Given the description of an element on the screen output the (x, y) to click on. 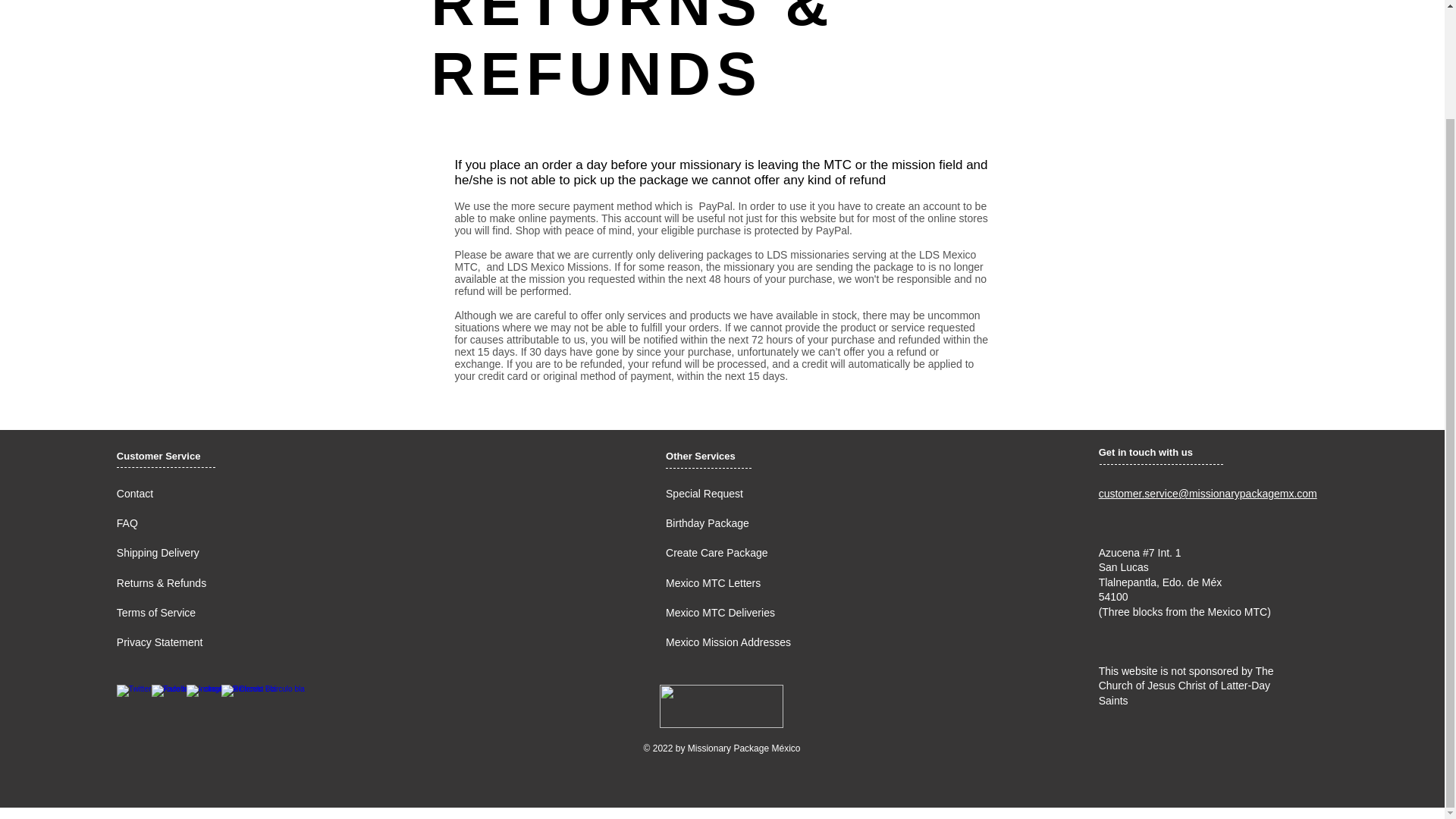
Terms of Service (155, 612)
Special Request (703, 493)
Shipping Delivery (157, 552)
Create Care Package (716, 552)
FAQ (127, 522)
Mexico Mission Addresses (727, 642)
Birthday Package (707, 522)
Contact (134, 493)
Privacy Statement (159, 642)
Mexico MTC Deliveries (719, 612)
